Given the description of an element on the screen output the (x, y) to click on. 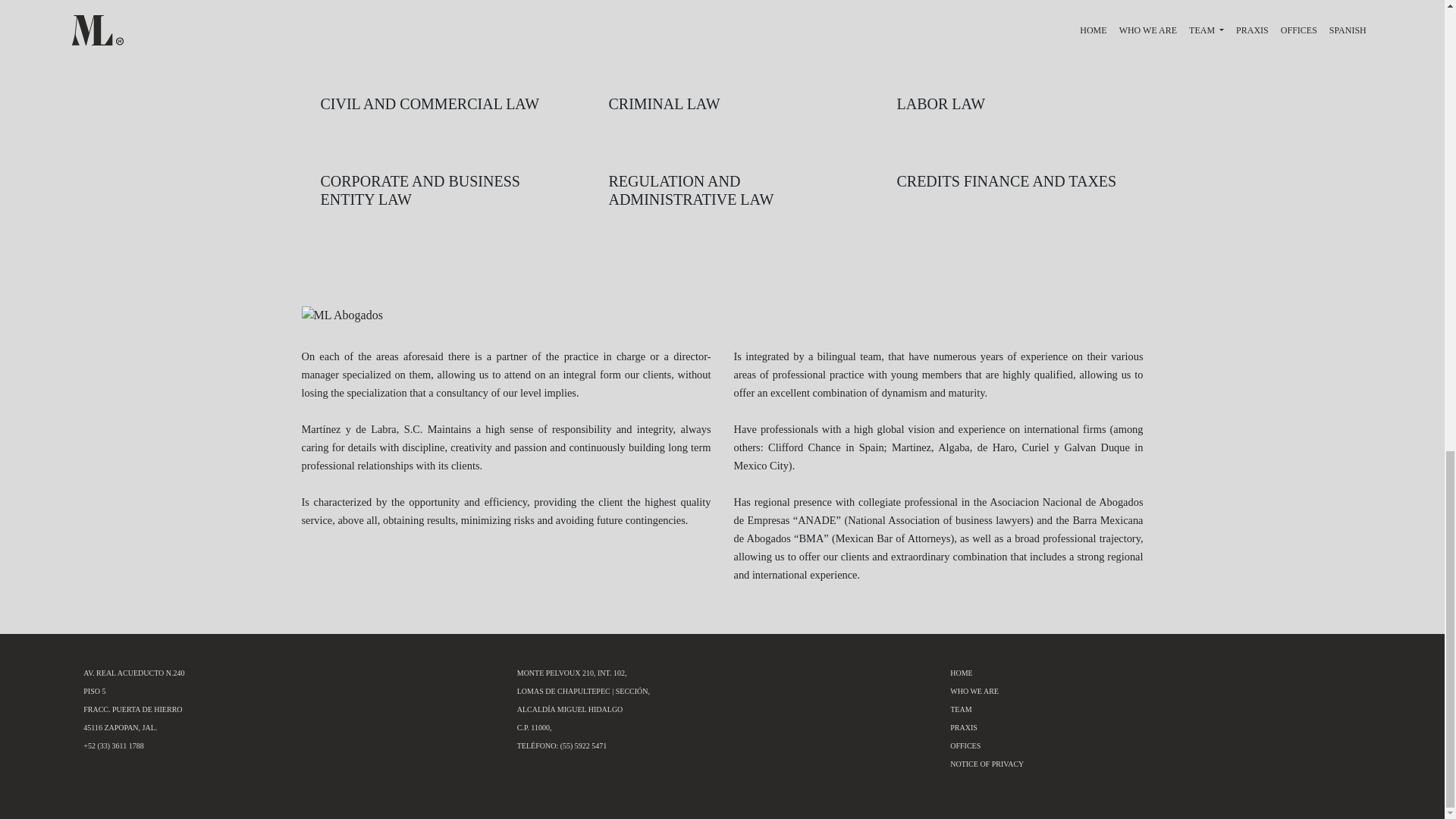
OFFICES (964, 746)
WHO WE ARE (974, 691)
TEAM (960, 709)
NOTICE OF PRIVACY (986, 764)
PRAXIS (963, 727)
HOME (961, 673)
